Given the description of an element on the screen output the (x, y) to click on. 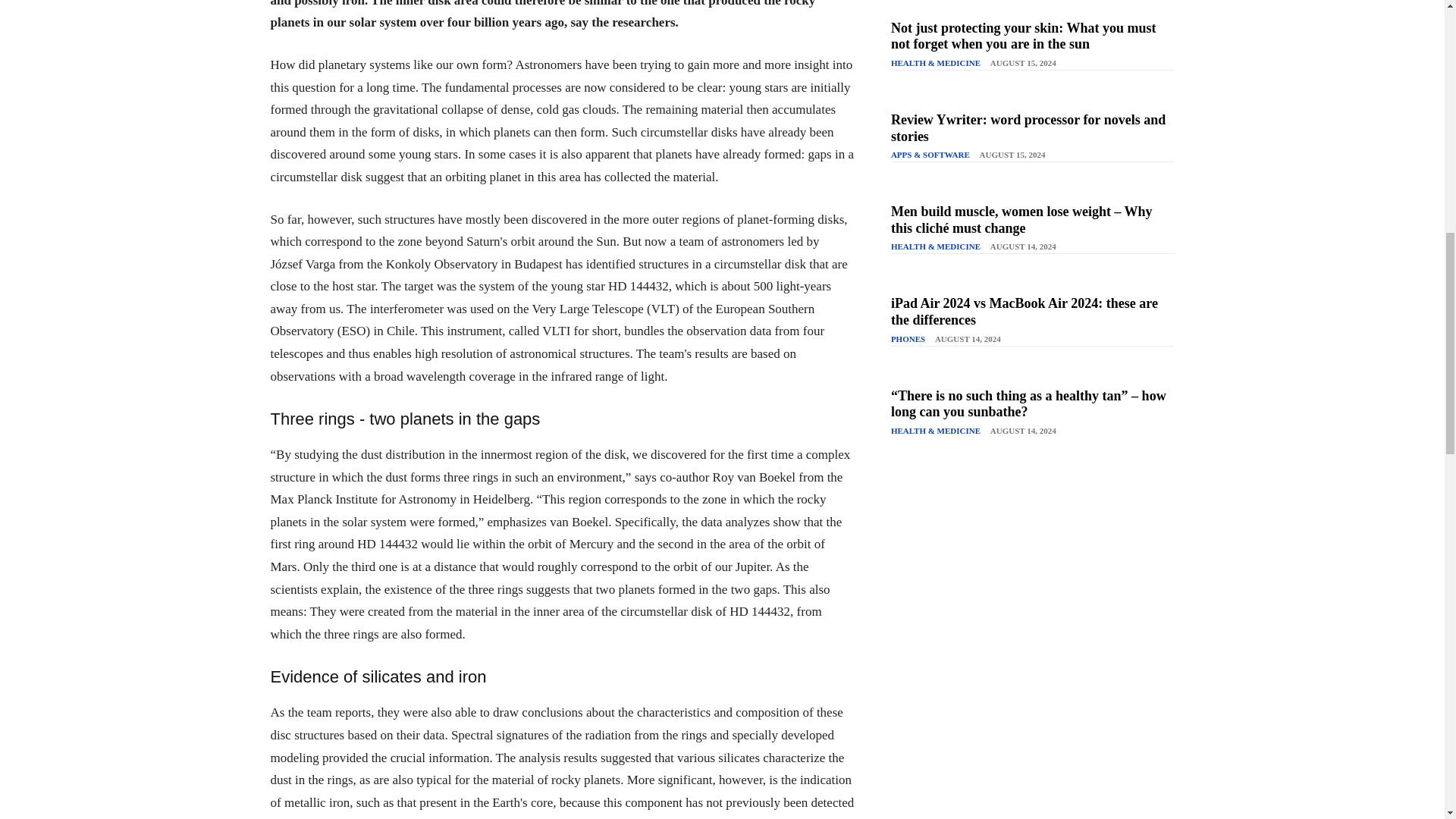
Review Ywriter: word processor for novels and stories (1028, 128)
iPad Air 2024 vs MacBook Air 2024: these are the differences (1024, 311)
